Given the description of an element on the screen output the (x, y) to click on. 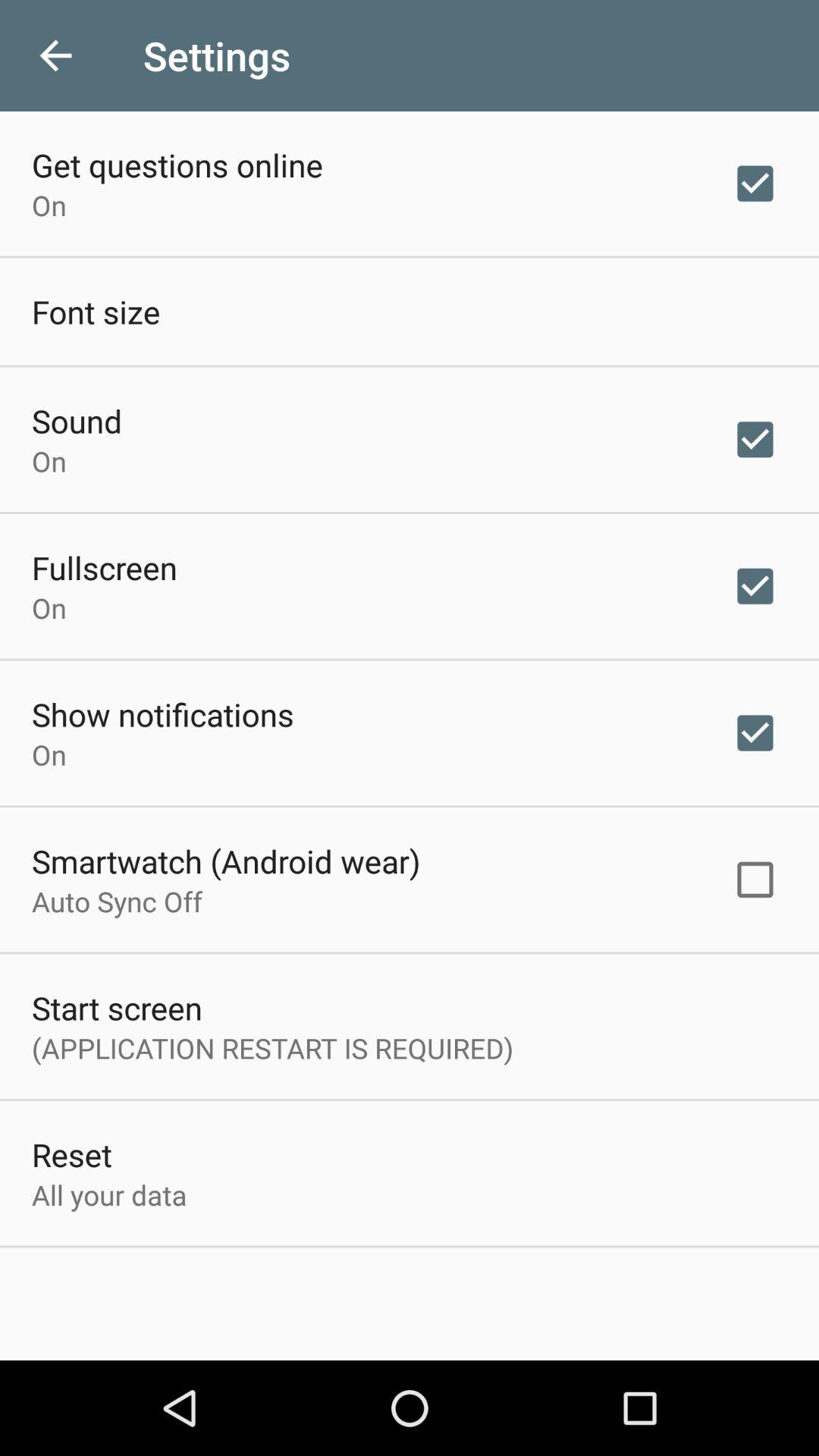
flip to smartwatch (android wear) (225, 860)
